Given the description of an element on the screen output the (x, y) to click on. 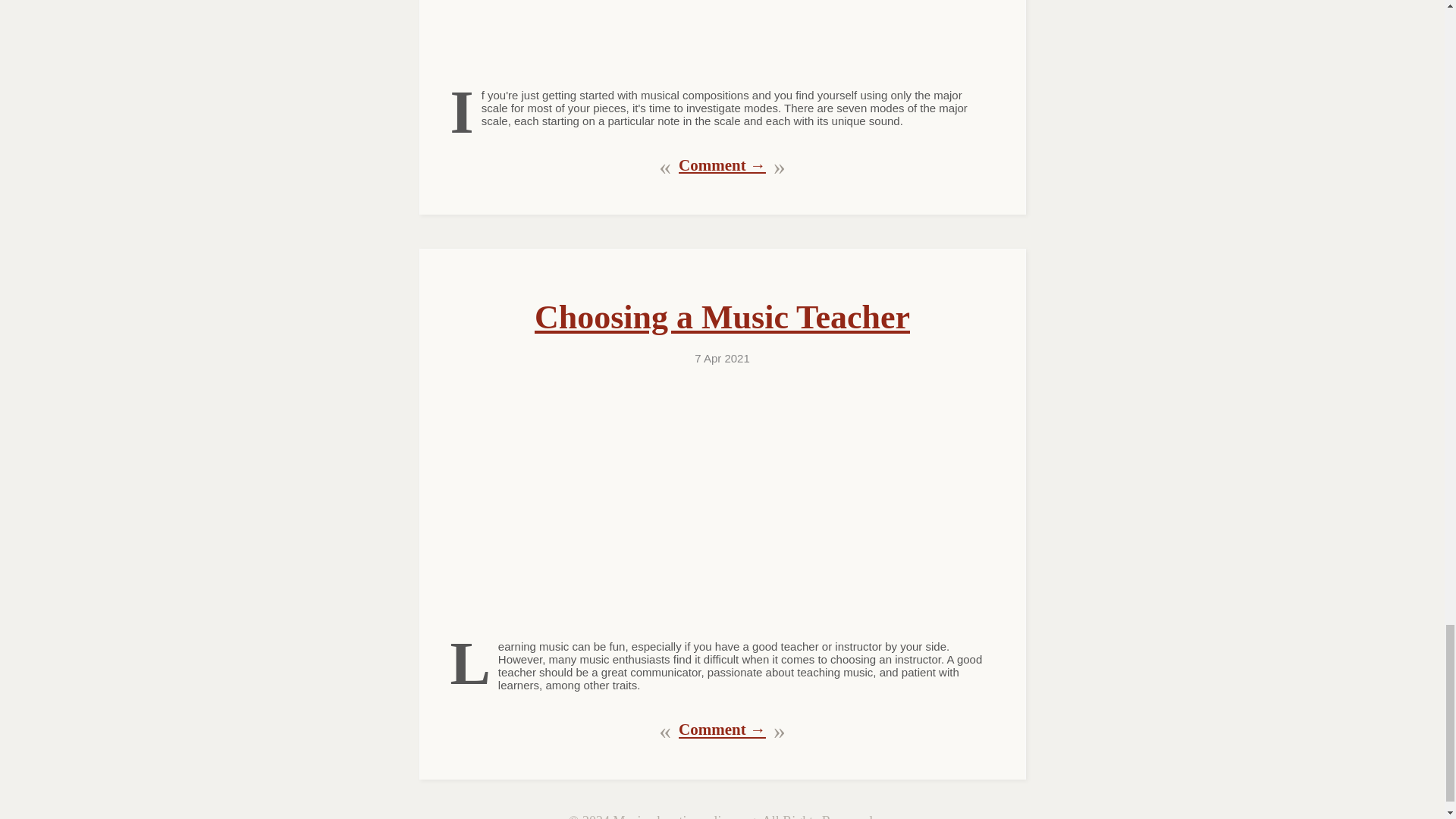
Choosing a Music Teacher (722, 316)
